Given the description of an element on the screen output the (x, y) to click on. 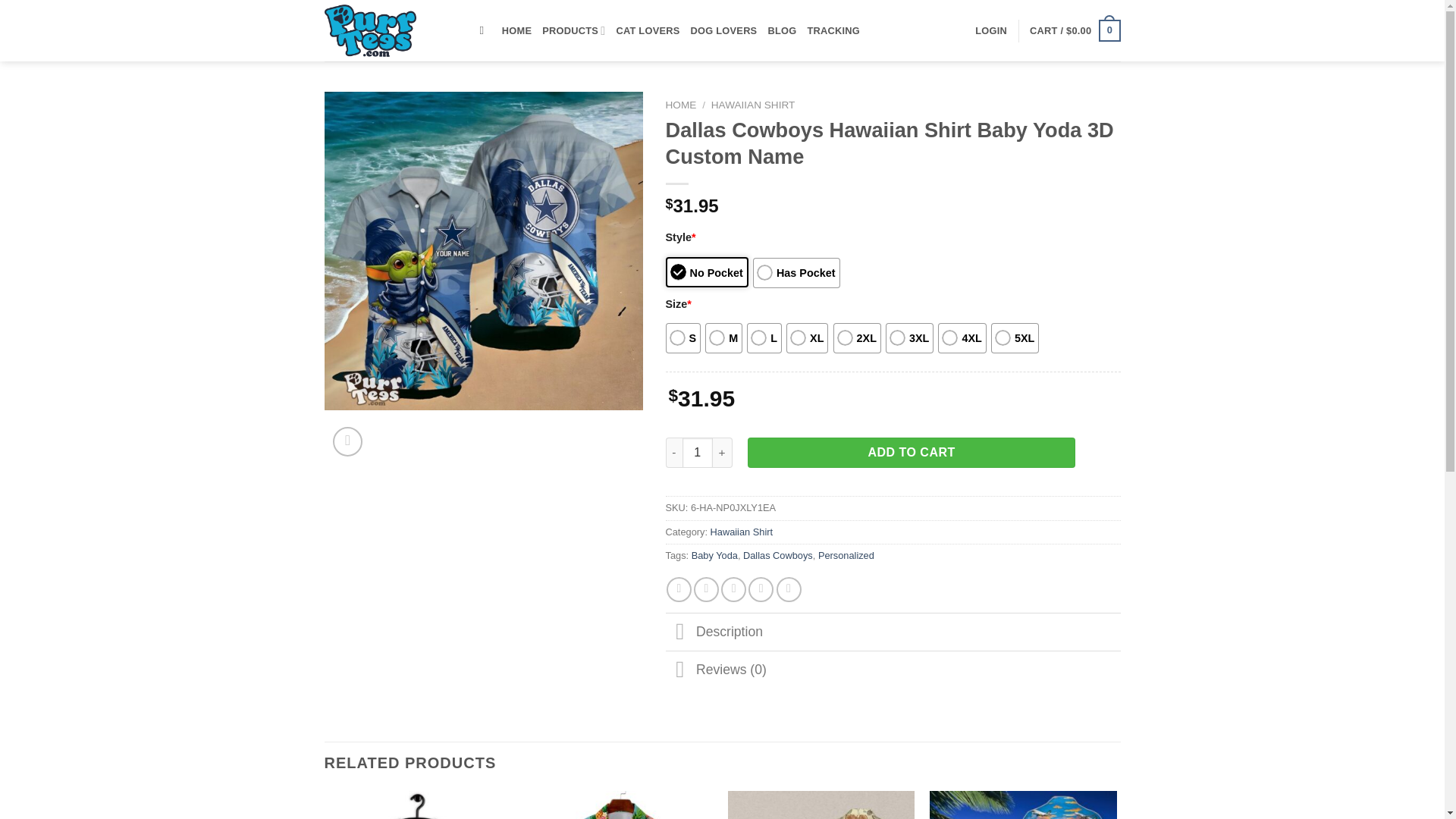
XL (807, 337)
ADD TO CART (911, 452)
BLOG (781, 30)
Hawaiian Shirt (741, 531)
HOME (516, 30)
Dallas Cowboys (777, 555)
Has Pocket (796, 272)
Purrtees (390, 30)
No Pocket (706, 272)
1 (697, 452)
